Given the description of an element on the screen output the (x, y) to click on. 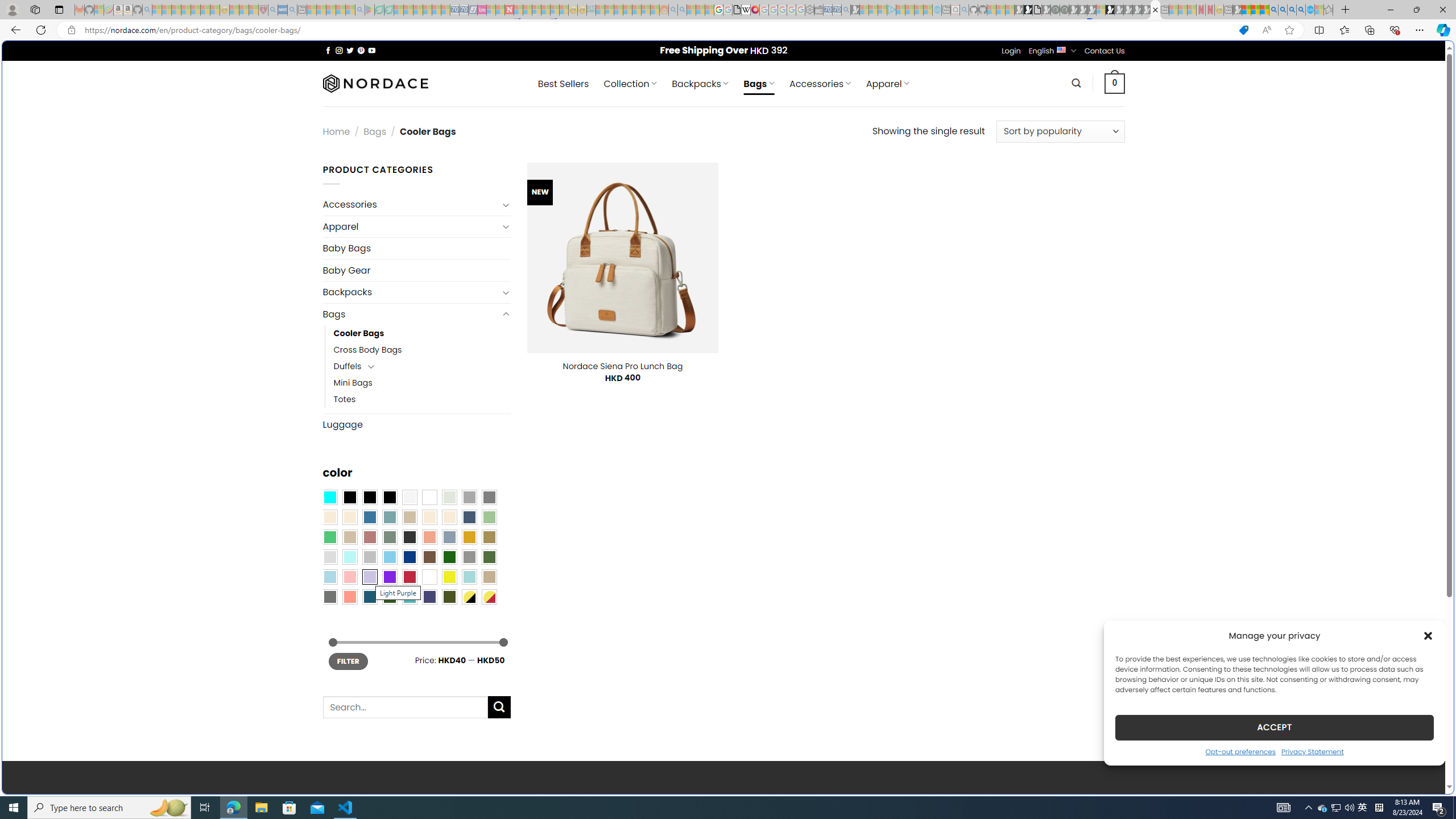
Dull Nickle (329, 596)
Baby Gear (416, 270)
Services - Maintenance | Sky Blue Bikes - Sky Blue Bikes (1309, 9)
English (1061, 49)
Backpacks (410, 292)
Blue (369, 517)
Bing Real Estate - Home sales and rental listings - Sleeping (846, 9)
